Given the description of an element on the screen output the (x, y) to click on. 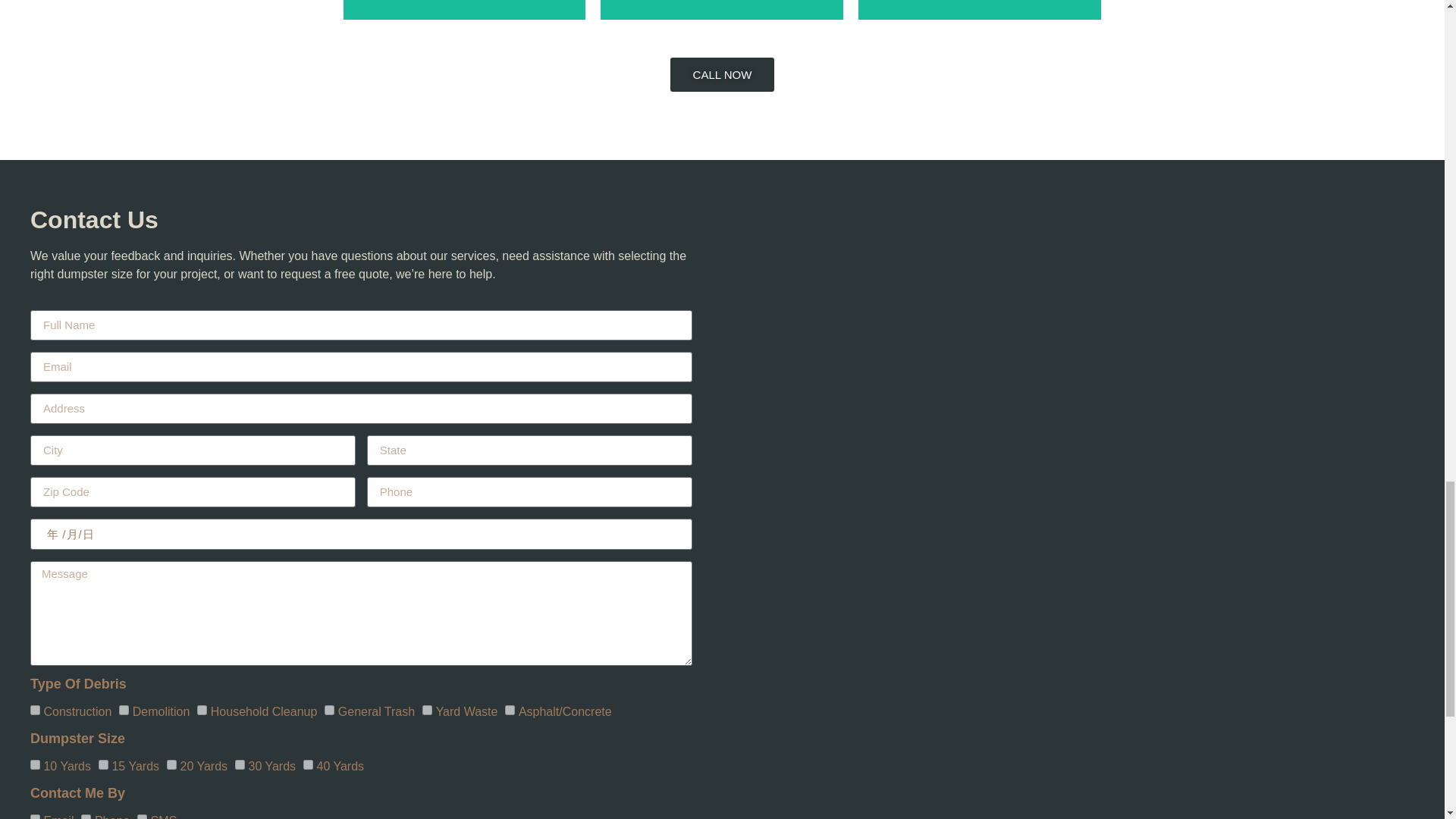
Email (35, 816)
CALL NOW (721, 74)
40 Yards (307, 764)
20 Yards (171, 764)
30 Yards (239, 764)
General Trash (329, 709)
Household Cleanup (201, 709)
Construction (35, 709)
Yard Waste (427, 709)
15 Yards (103, 764)
10 Yards (35, 764)
Demolition (124, 709)
